Given the description of an element on the screen output the (x, y) to click on. 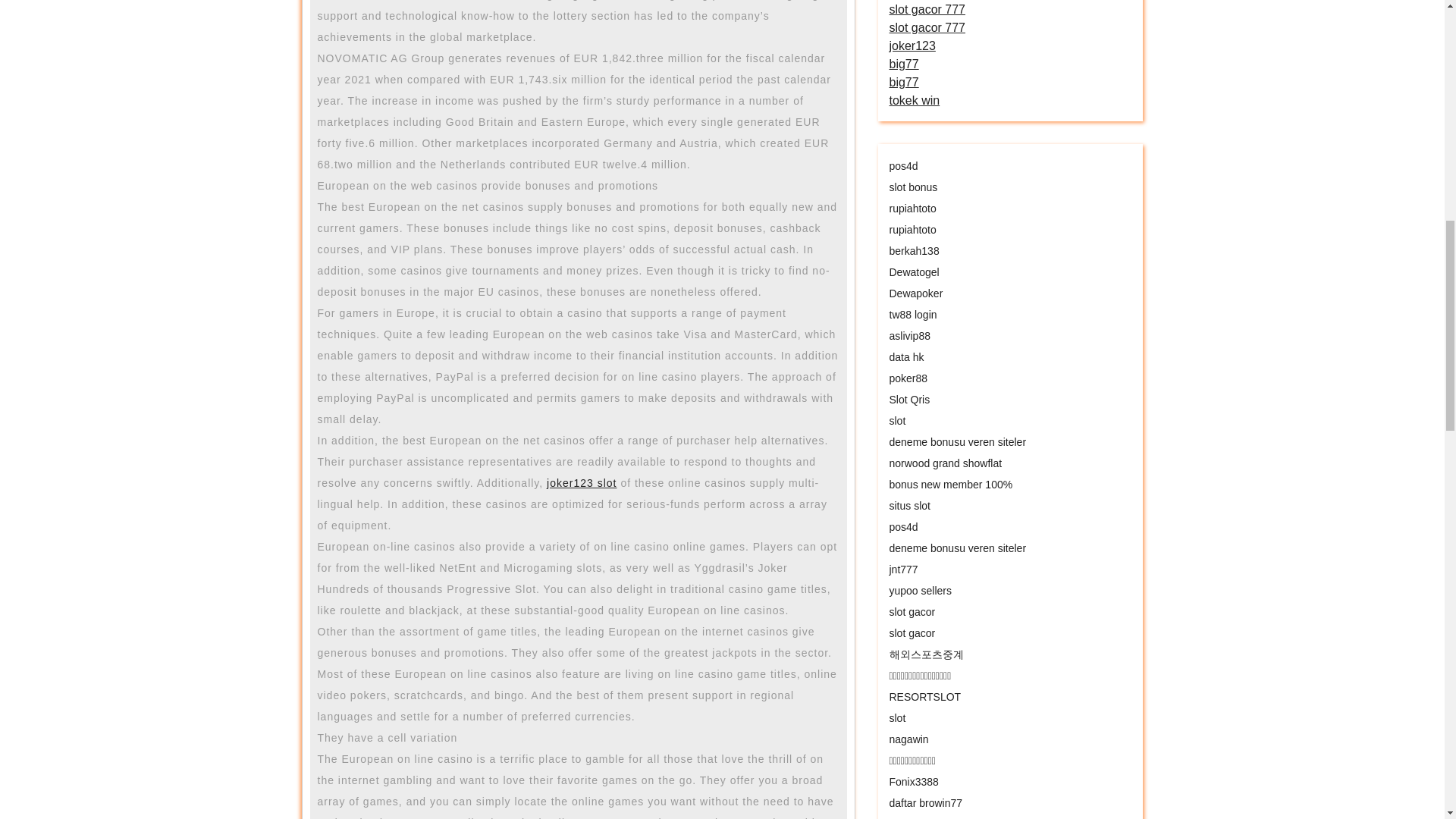
tokek win (913, 100)
big77 (903, 82)
slot gacor 777 (926, 27)
joker123 slot (581, 482)
big77 (903, 63)
slot gacor 777 (926, 9)
slot bonus (912, 186)
pos4d (902, 165)
rupiahtoto (912, 208)
joker123 (911, 45)
